Given the description of an element on the screen output the (x, y) to click on. 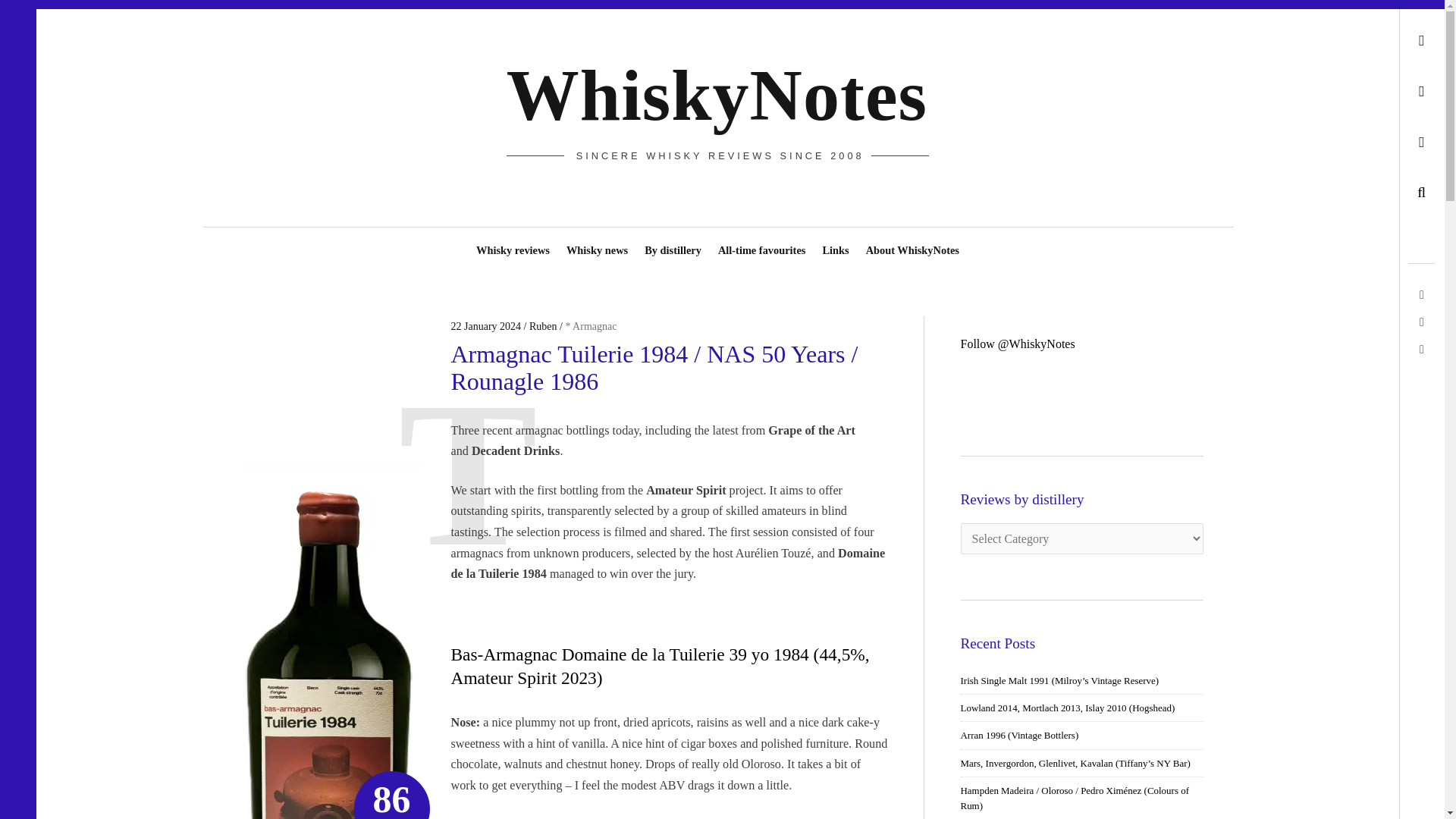
All-time favourites (761, 242)
WhiskyNotes (716, 94)
About WhiskyNotes (912, 242)
Whisky news (596, 242)
Whisky reviews (512, 242)
Links (835, 242)
By distillery (672, 242)
